Given the description of an element on the screen output the (x, y) to click on. 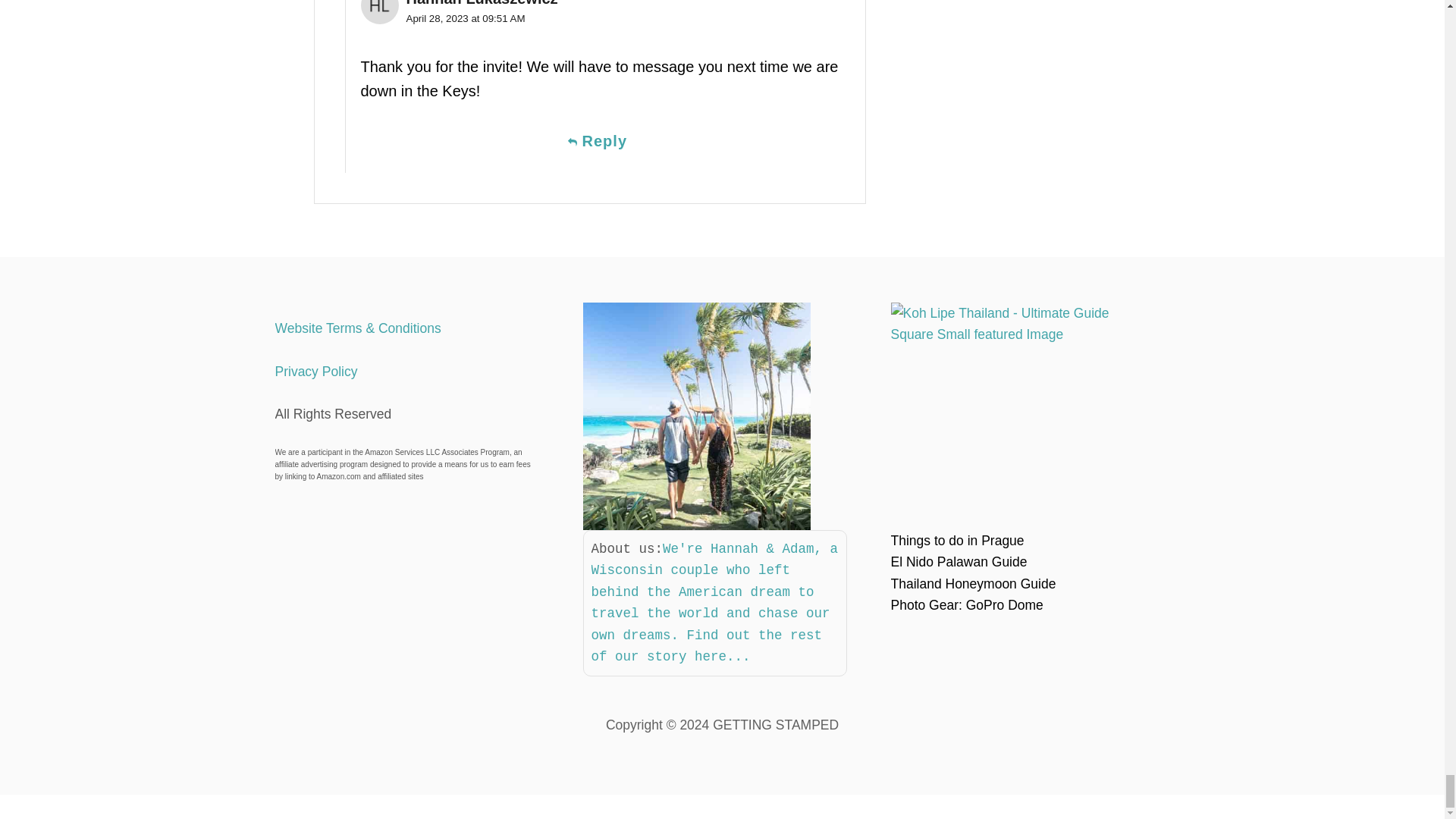
Thailand Honeymoon Guide (972, 583)
Things to do in Prague (956, 540)
Complete Guide to El Nido Palawan (957, 561)
